Given the description of an element on the screen output the (x, y) to click on. 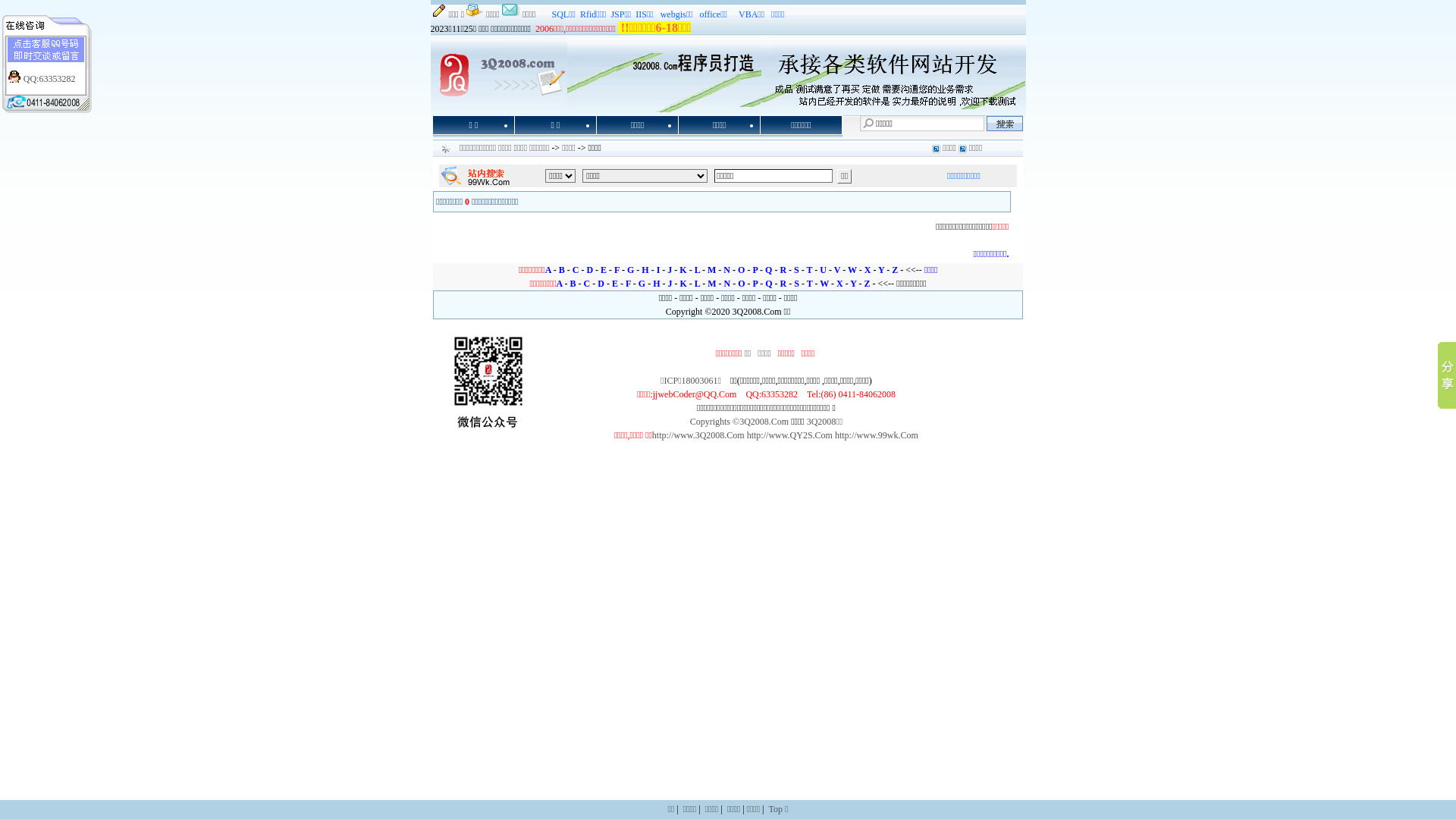
U Element type: text (822, 269)
F Element type: text (627, 283)
O Element type: text (740, 269)
M Element type: text (711, 283)
QQ:63353282 Element type: text (49, 78)
C Element type: text (575, 269)
P Element type: text (754, 269)
A Element type: text (559, 283)
B Element type: text (573, 283)
E Element type: text (603, 269)
L Element type: text (696, 269)
G Element type: text (641, 283)
H Element type: text (655, 283)
N Element type: text (727, 283)
Z Element type: text (894, 269)
S Element type: text (796, 283)
D Element type: text (600, 283)
Q Element type: text (768, 283)
J Element type: text (669, 283)
M Element type: text (711, 269)
O Element type: text (740, 283)
D Element type: text (589, 269)
T Element type: text (809, 269)
P Element type: text (755, 283)
F Element type: text (616, 269)
Y Element type: text (881, 269)
C Element type: text (586, 283)
A Element type: text (548, 269)
X Element type: text (867, 269)
T Element type: text (809, 283)
K Element type: text (682, 283)
R Element type: text (783, 283)
H Element type: text (644, 269)
I Element type: text (658, 269)
S Element type: text (796, 269)
X Element type: text (839, 283)
L Element type: text (696, 283)
V Element type: text (837, 269)
G Element type: text (630, 269)
E Element type: text (614, 283)
N Element type: text (726, 269)
R Element type: text (782, 269)
Q Element type: text (768, 269)
Z Element type: text (867, 283)
W Element type: text (851, 269)
W Element type: text (823, 283)
Y Element type: text (853, 283)
J Element type: text (669, 269)
K Element type: text (682, 269)
B Element type: text (561, 269)
